Given the description of an element on the screen output the (x, y) to click on. 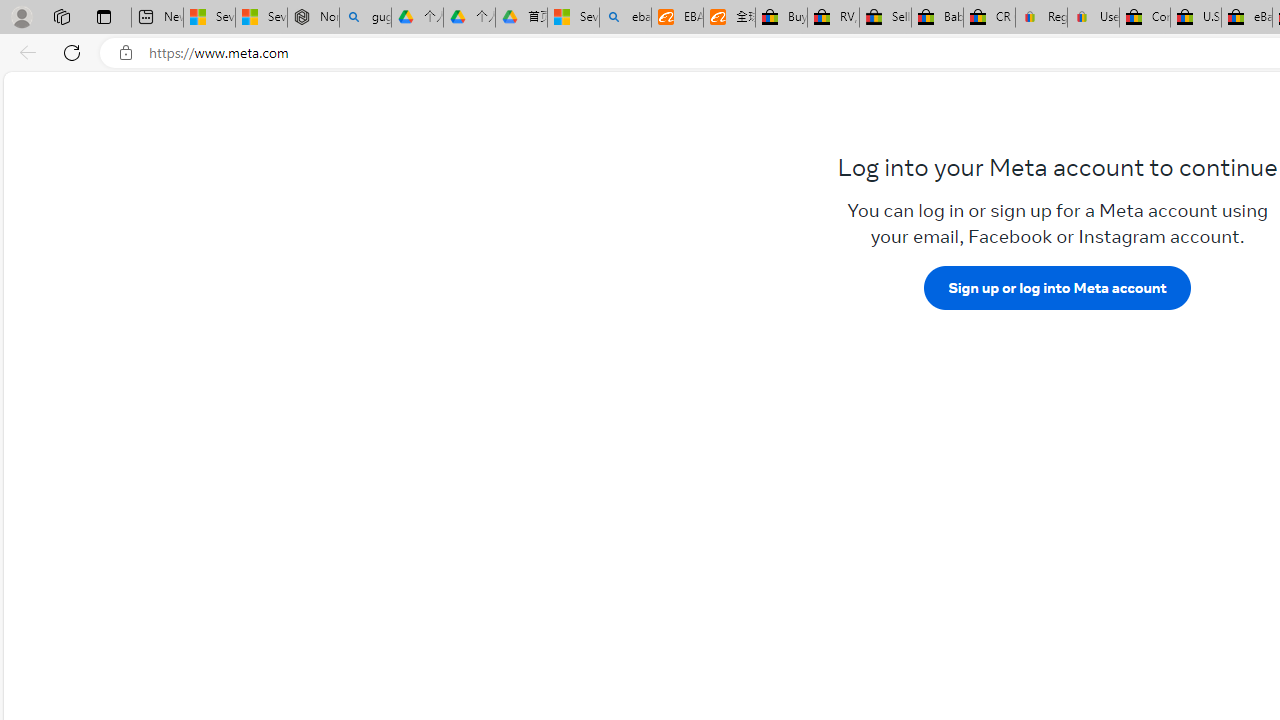
Sell worldwide with eBay (885, 17)
Consumer Health Data Privacy Policy - eBay Inc. (1144, 17)
Baby Keepsakes & Announcements for sale | eBay (936, 17)
guge yunpan - Search (365, 17)
Register: Create a personal eBay account (1041, 17)
Buy Auto Parts & Accessories | eBay (781, 17)
Sign up or log into Meta account (1057, 287)
